Given the description of an element on the screen output the (x, y) to click on. 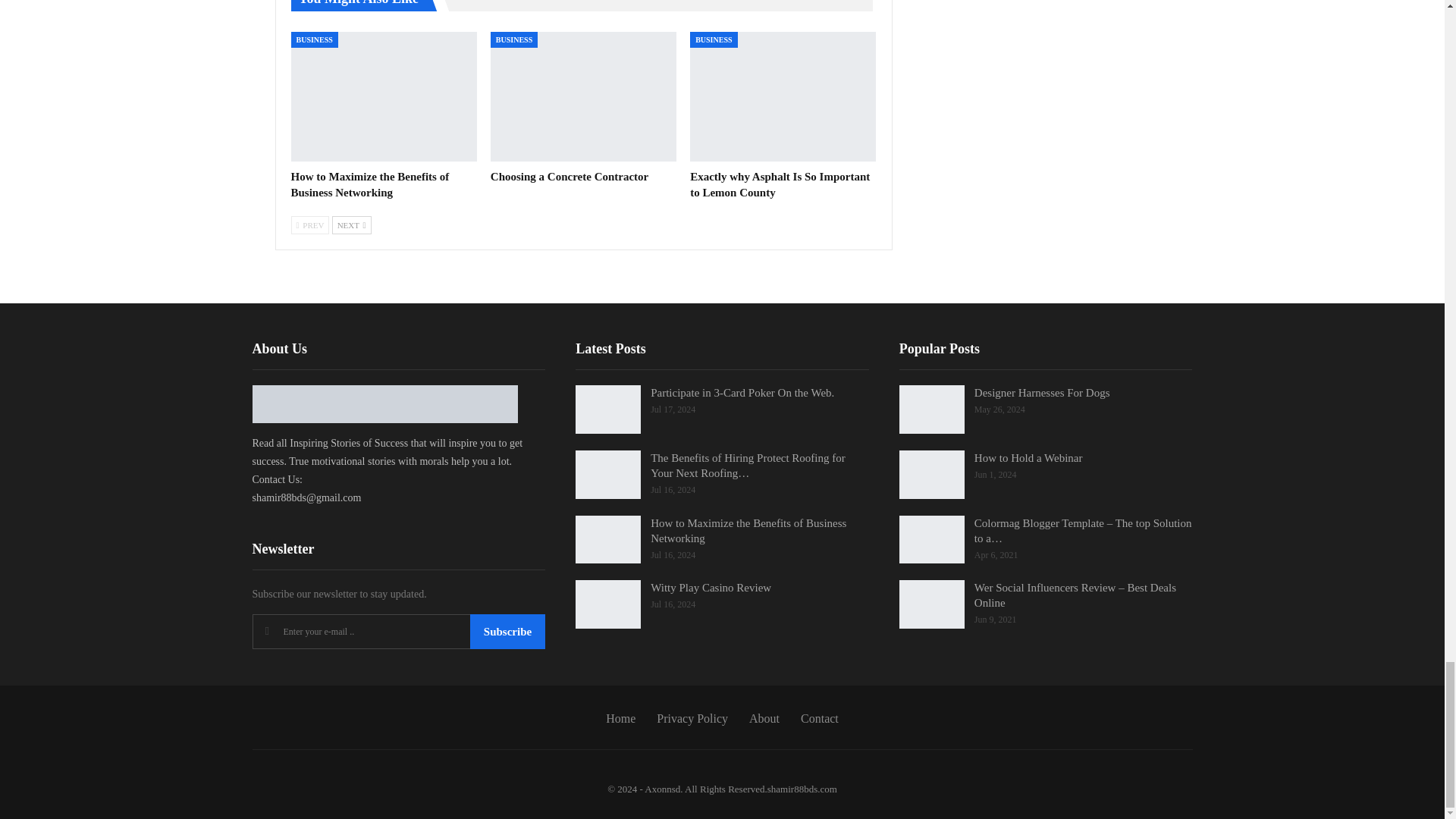
How to Maximize the Benefits of Business Networking (370, 184)
Exactly why Asphalt Is So Important to Lemon County (783, 96)
Choosing a Concrete Contractor (583, 96)
How to Maximize the Benefits of Business Networking (384, 96)
Choosing a Concrete Contractor (568, 176)
